Given the description of an element on the screen output the (x, y) to click on. 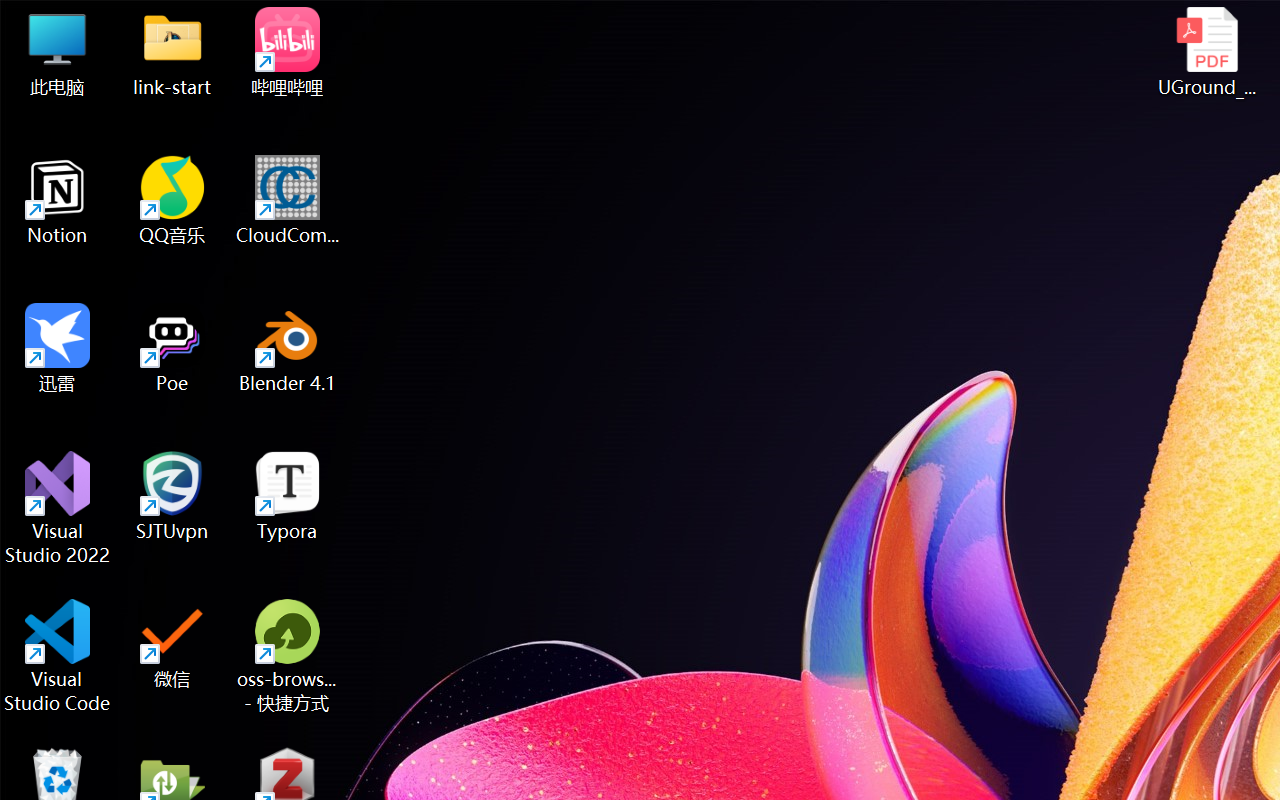
Visual Studio 2022 (57, 508)
UGround_paper.pdf (1206, 52)
Typora (287, 496)
Visual Studio Code (57, 656)
CloudCompare (287, 200)
Blender 4.1 (287, 348)
